Given the description of an element on the screen output the (x, y) to click on. 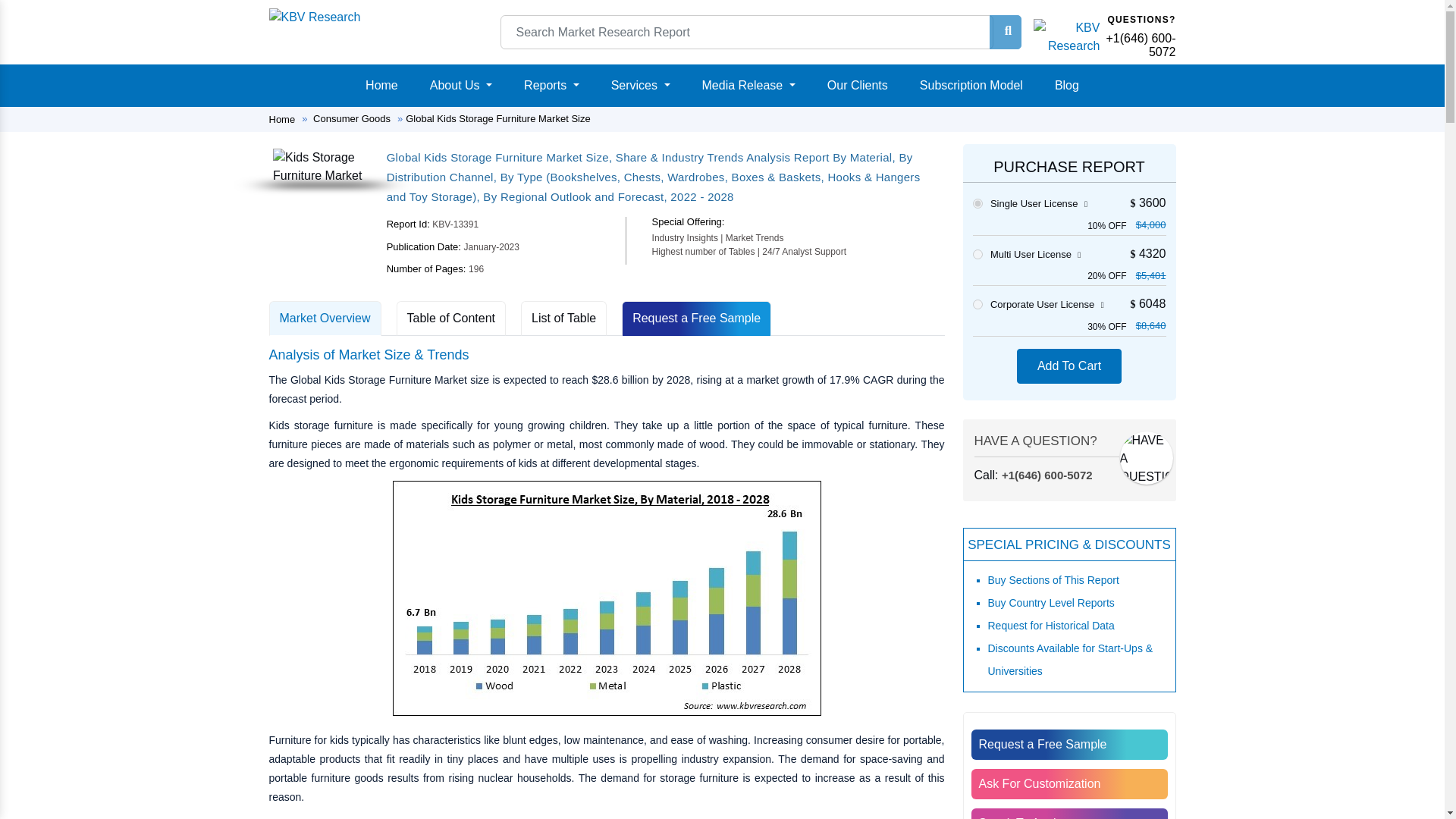
4320 (976, 254)
Services (641, 85)
Blog (1066, 85)
About Us (460, 85)
3600 (976, 203)
Reports (551, 85)
Subscription Model (971, 85)
Media Release (748, 85)
KBV Research (313, 17)
